Given the description of an element on the screen output the (x, y) to click on. 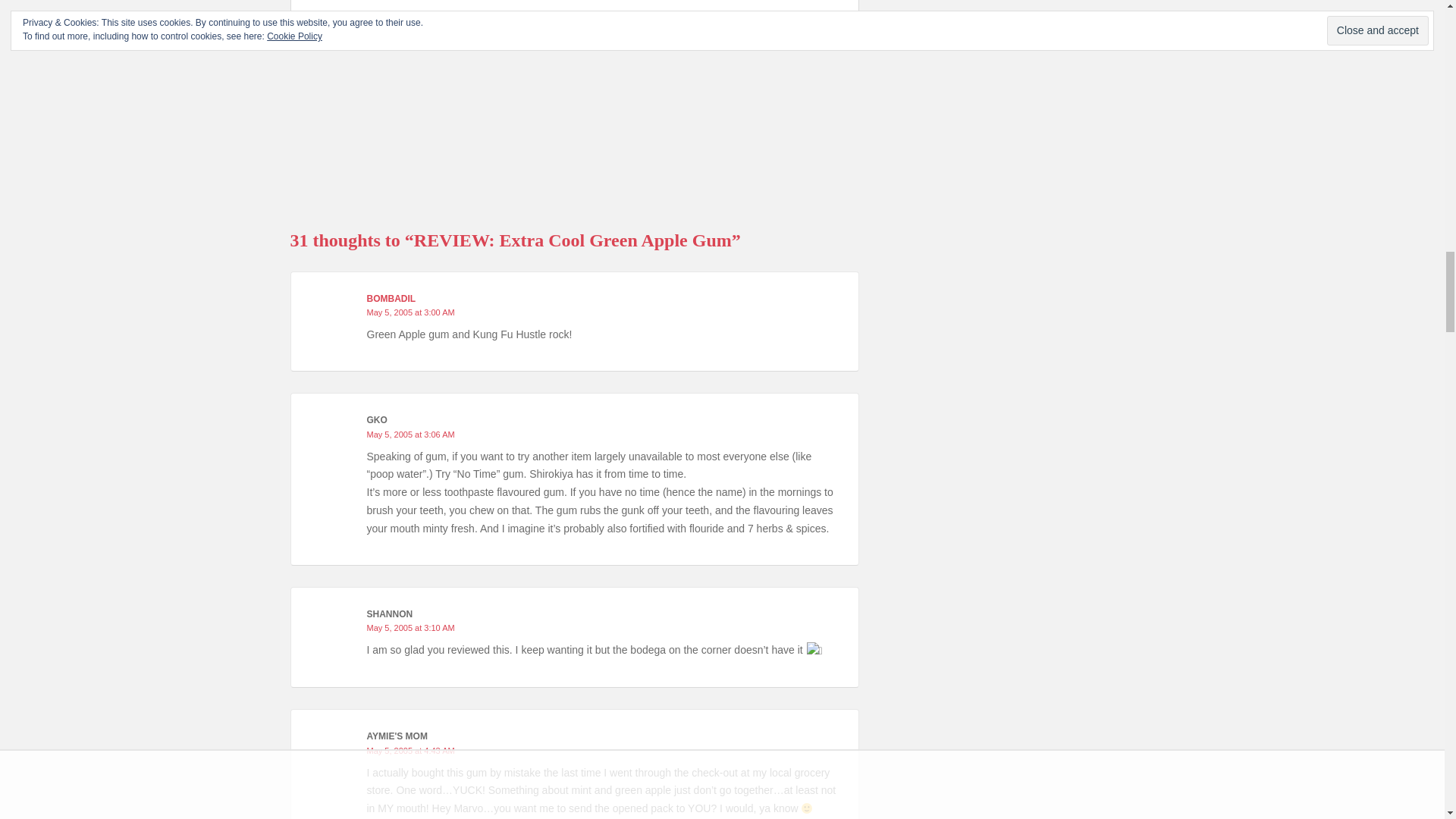
May 5, 2005 at 4:43 AM (410, 750)
May 5, 2005 at 3:10 AM (410, 627)
May 5, 2005 at 3:06 AM (410, 433)
BOMBADIL (391, 298)
May 5, 2005 at 3:00 AM (410, 311)
